Given the description of an element on the screen output the (x, y) to click on. 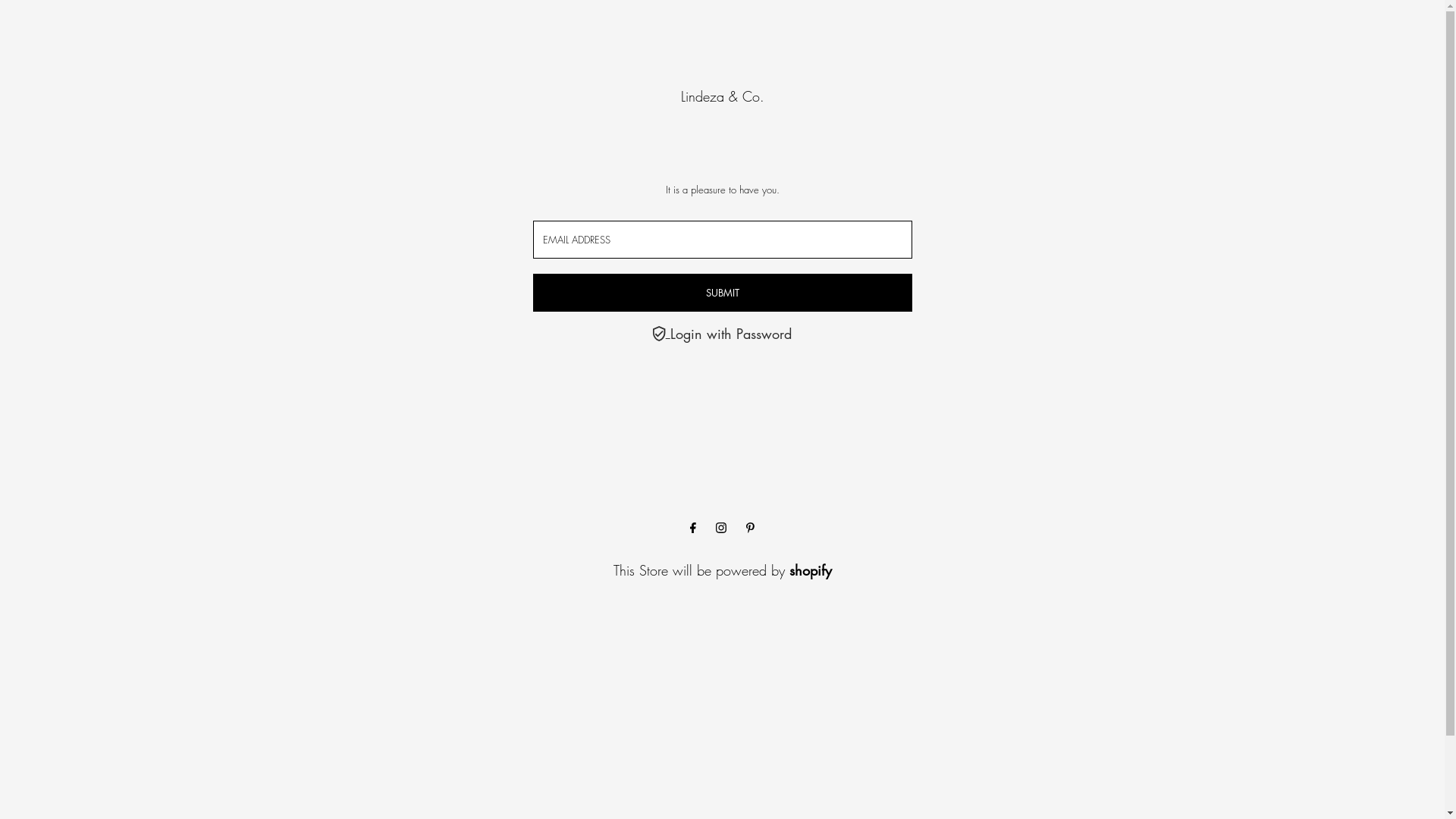
Lindeza & Co. Element type: text (722, 96)
Submit Element type: text (721, 292)
shopify Element type: text (809, 570)
